Given the description of an element on the screen output the (x, y) to click on. 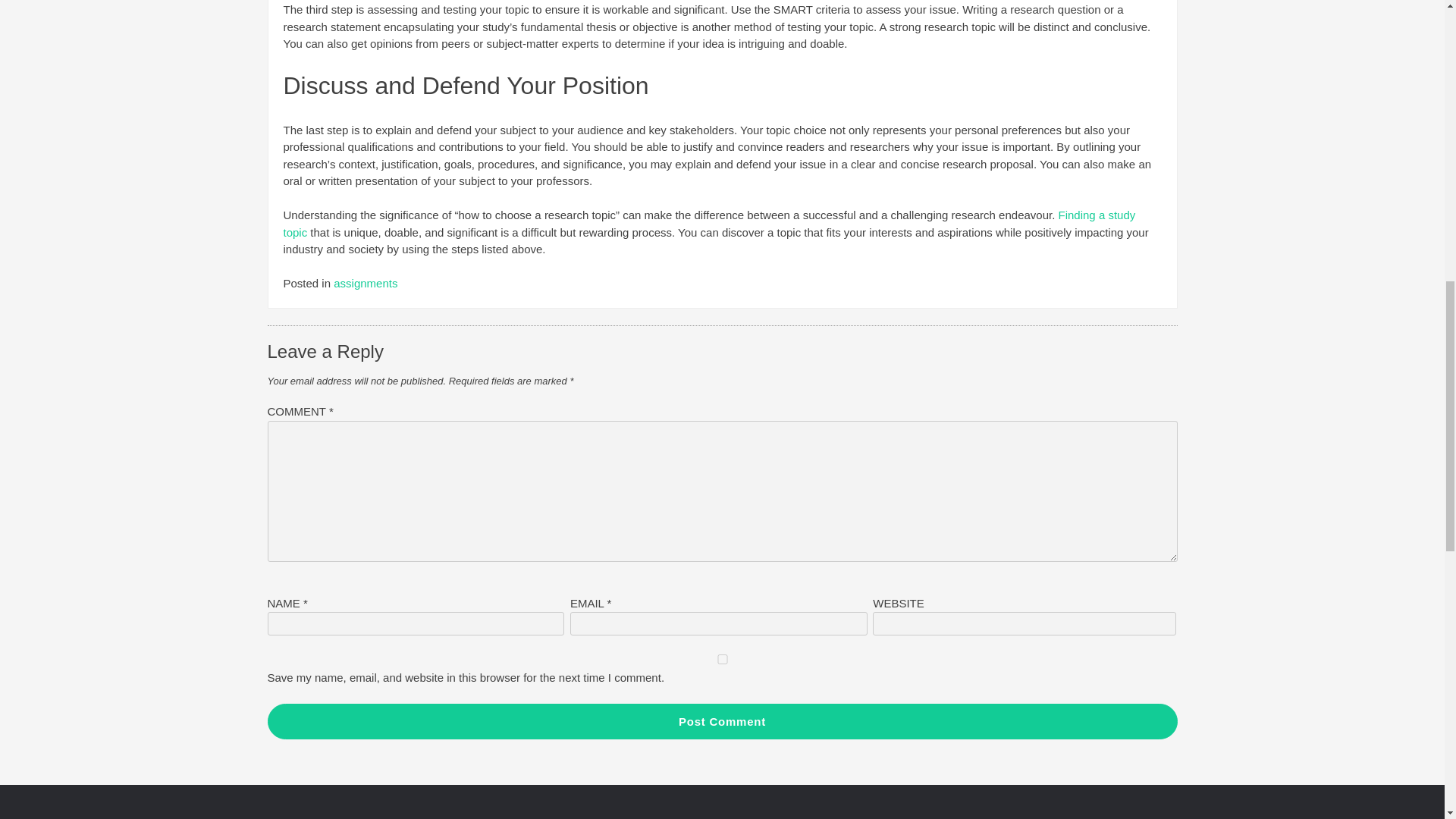
Post Comment (721, 721)
